Given the description of an element on the screen output the (x, y) to click on. 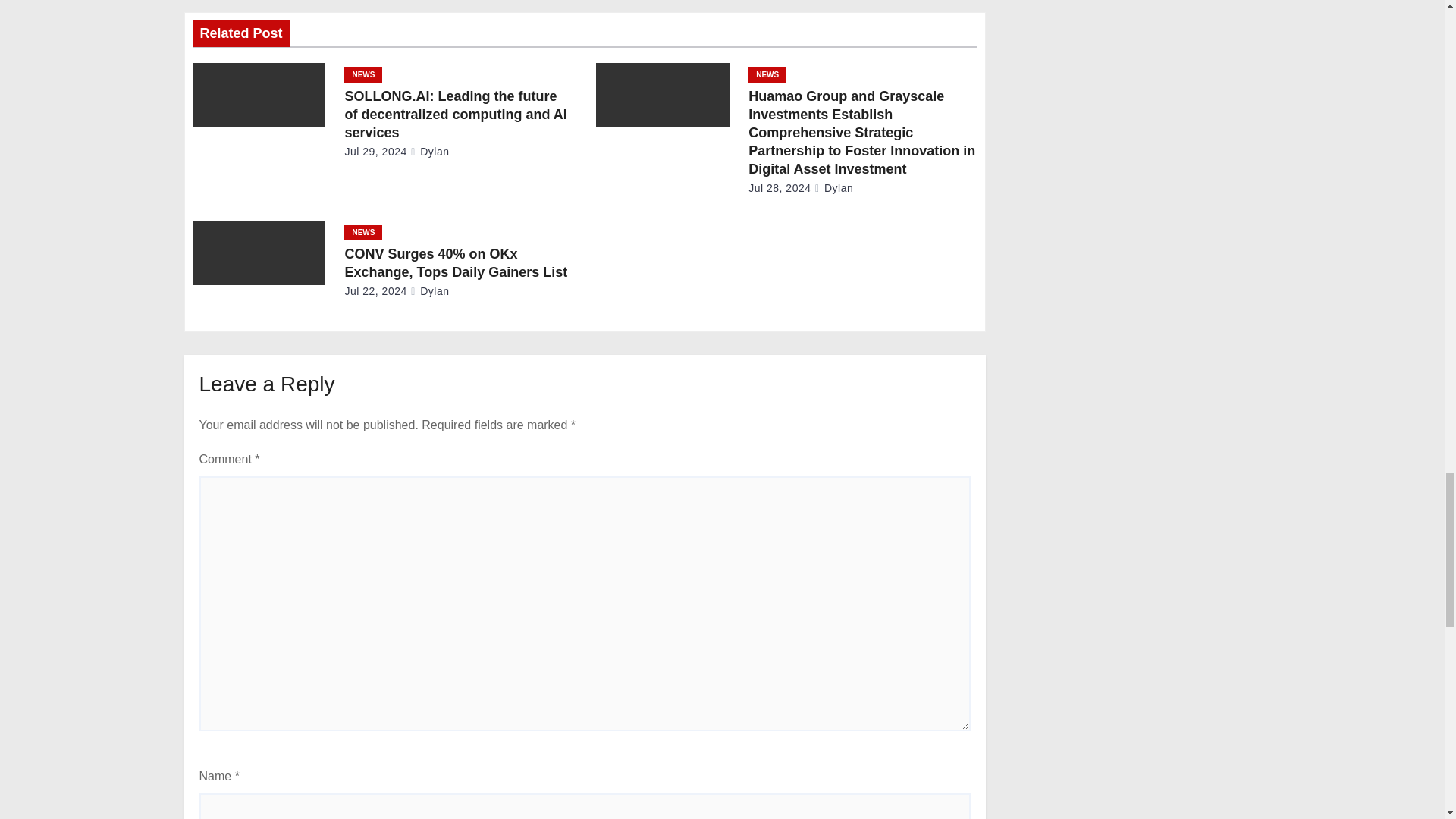
Jul 22, 2024 (374, 291)
NEWS (362, 74)
NEWS (767, 74)
Dylan (429, 151)
NEWS (362, 232)
Dylan (833, 187)
Jul 28, 2024 (779, 187)
Jul 29, 2024 (374, 151)
